Given the description of an element on the screen output the (x, y) to click on. 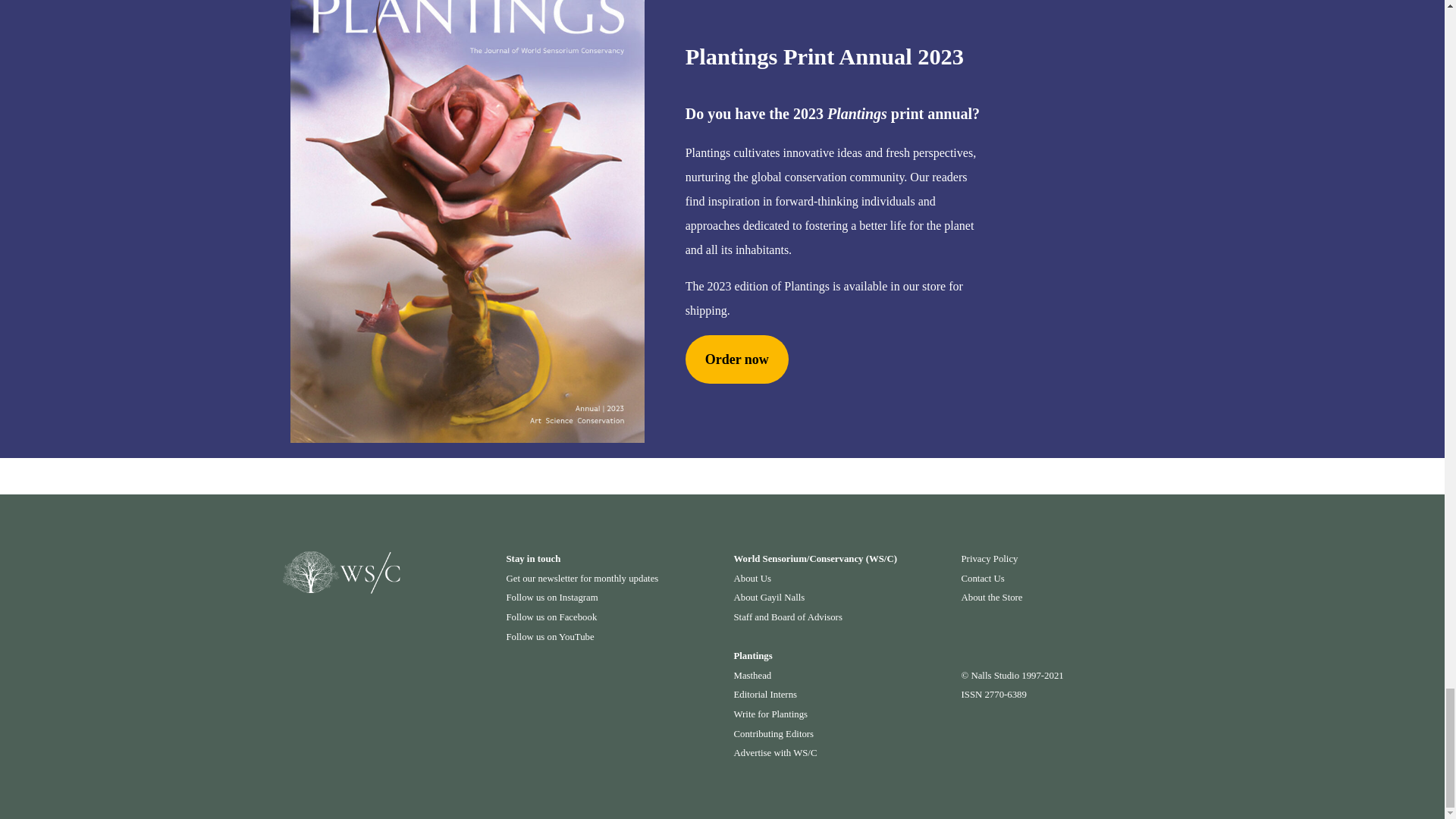
About Us (752, 578)
About Gayil Nalls (769, 597)
Follow us on Instagram (552, 597)
Follow us on YouTube (550, 636)
Order now (737, 359)
Get our newsletter for monthly updates (582, 578)
Follow us on Facebook (551, 616)
